Given the description of an element on the screen output the (x, y) to click on. 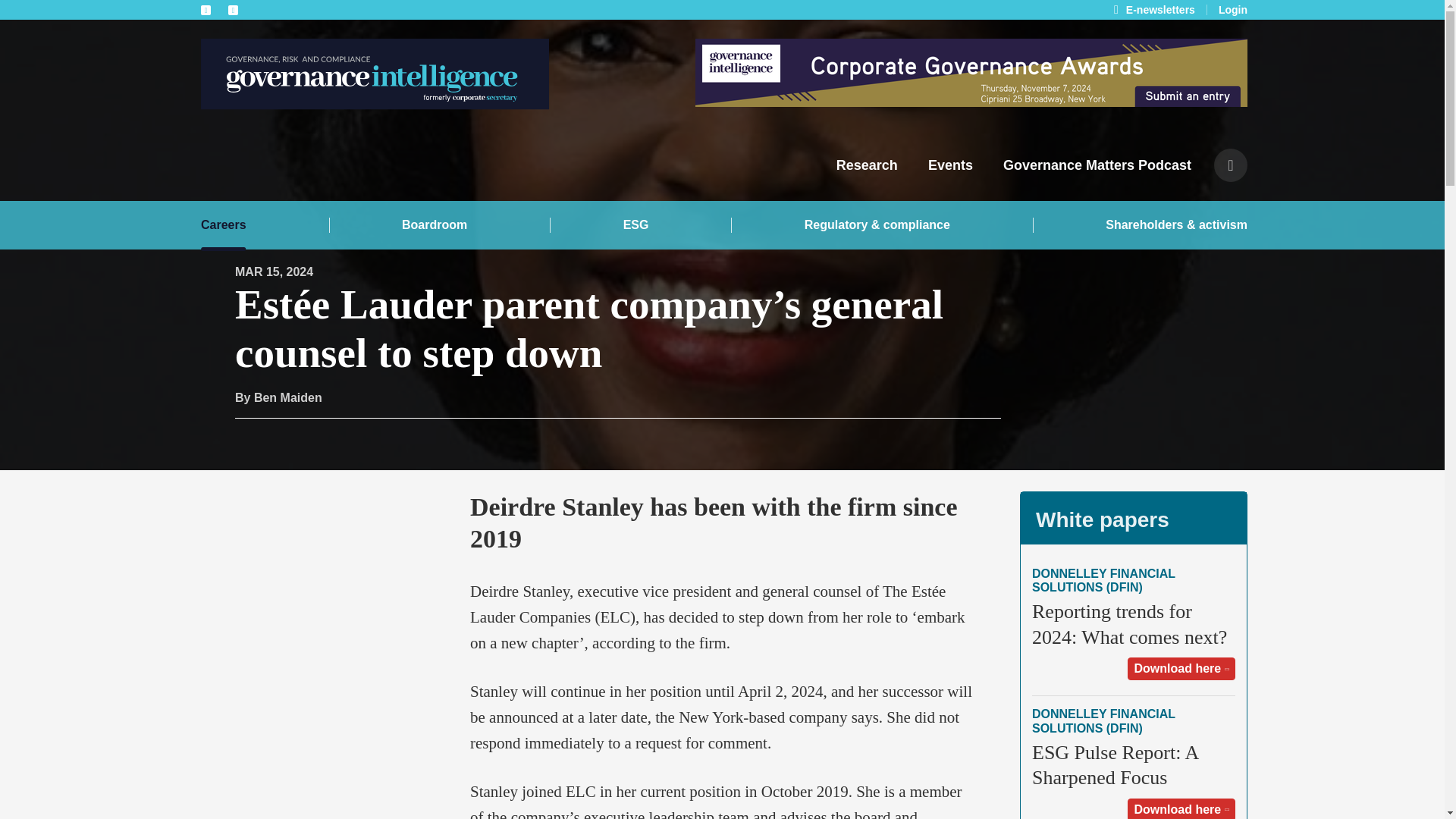
Download here (1180, 808)
Twitter (233, 9)
Research (866, 165)
Boardroom (434, 224)
E-newsletters (1160, 9)
Governance Matters Podcast (1097, 165)
Submit an entry for the 2024 Corporate Governance Awards (971, 72)
Reporting trends for 2024: What comes next? (1129, 623)
Search (959, 405)
ESG Pulse Report: A Sharpened Focus (1115, 765)
Download here (1180, 668)
Events (950, 165)
LinkedIn (205, 9)
Login (1232, 9)
